Given the description of an element on the screen output the (x, y) to click on. 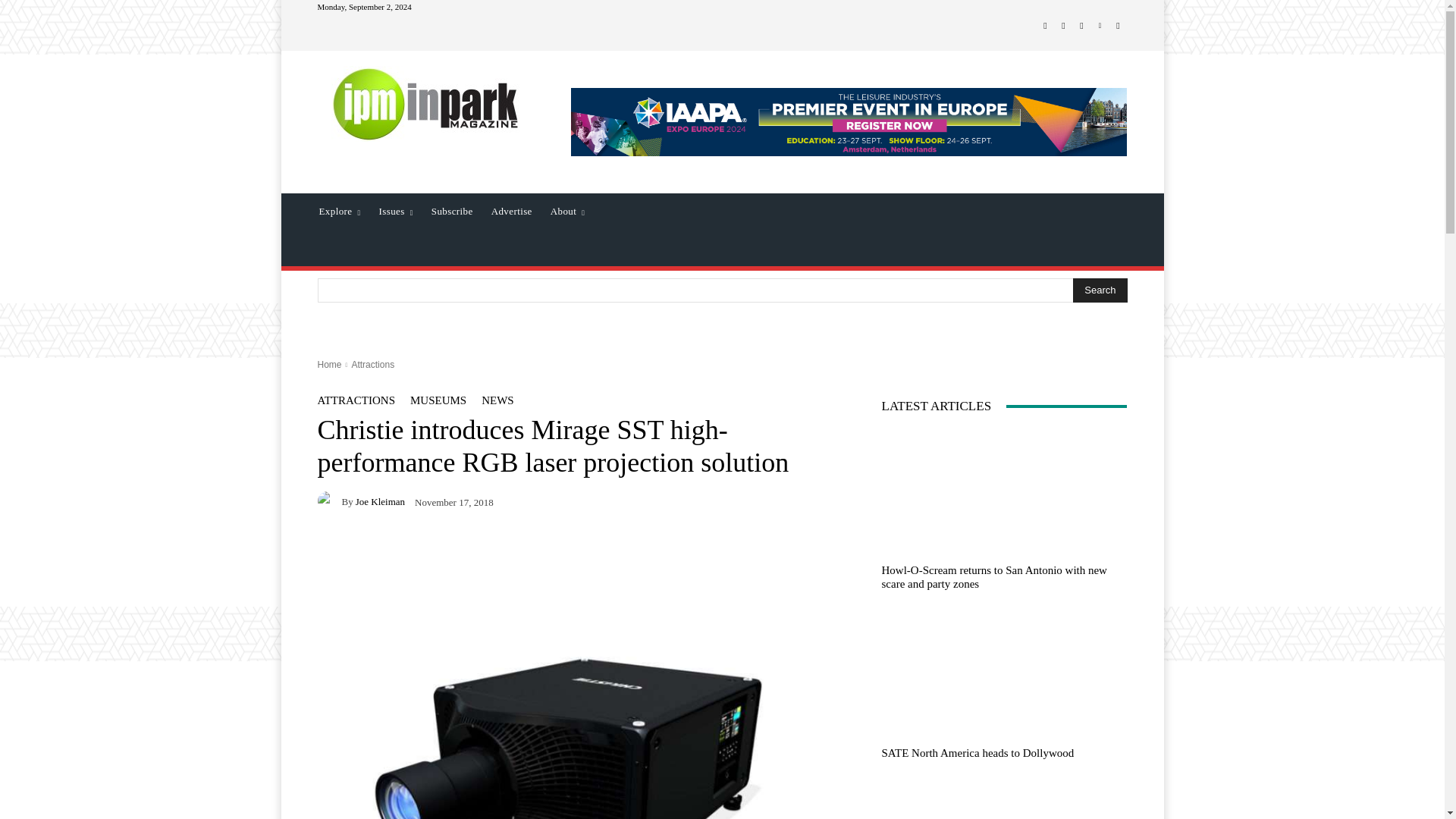
Youtube (1117, 25)
Vimeo (1099, 25)
Facebook (1044, 25)
Twitter (1080, 25)
Instagram (1062, 25)
